Given the description of an element on the screen output the (x, y) to click on. 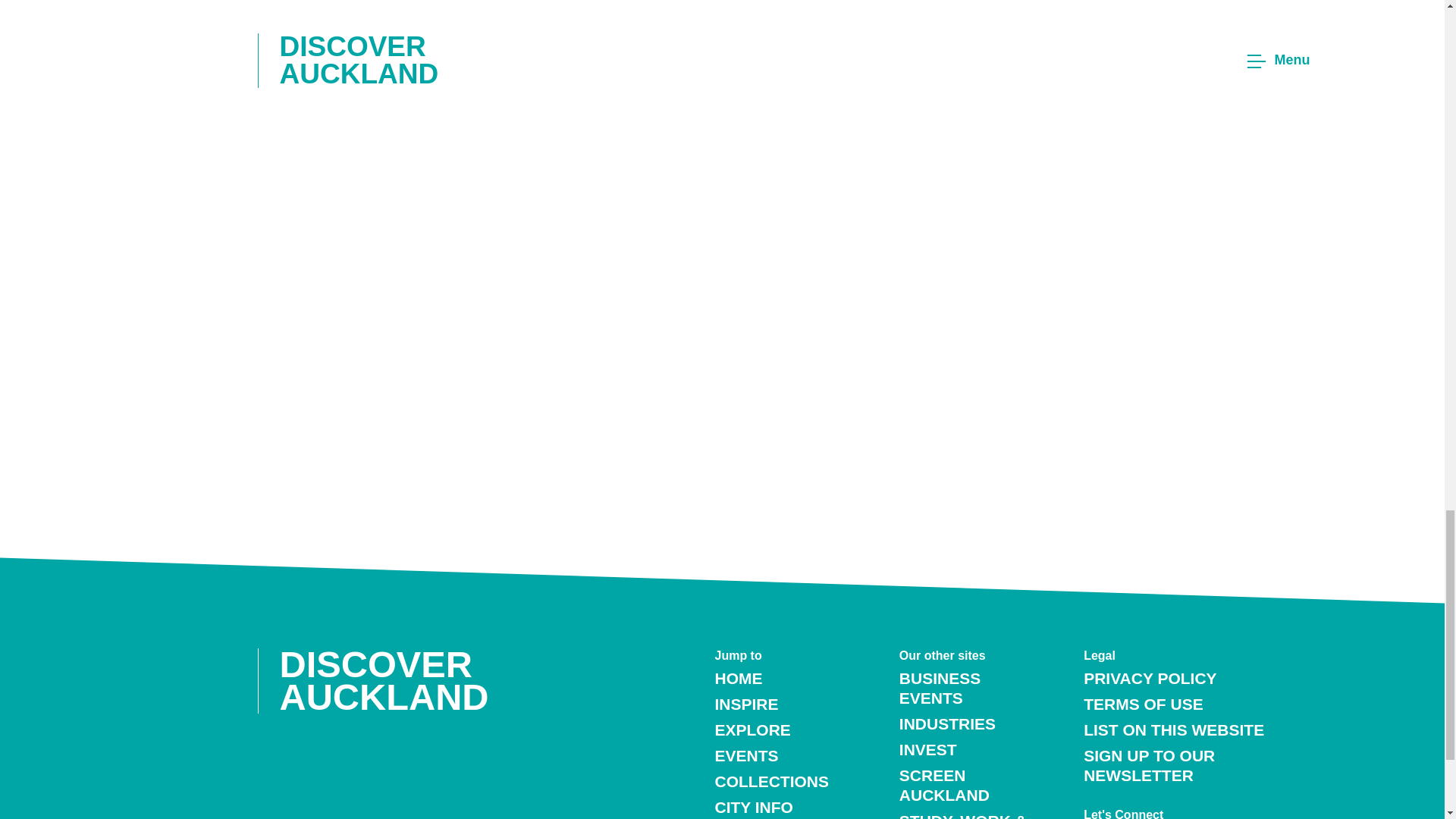
SCREEN AUCKLAND (944, 784)
INDUSTRIES (947, 723)
SIGN UP TO OUR NEWSLETTER (1148, 764)
INVEST (927, 749)
LIST ON THIS WEBSITE (1173, 729)
EXPLORE (752, 729)
DISCOVER AUCKLAND (394, 680)
PRIVACY POLICY (1149, 678)
TERMS OF USE (1143, 703)
BUSINESS EVENTS (939, 687)
INSPIRE (745, 703)
HOME (737, 678)
COLLECTIONS (771, 781)
EVENTS (745, 755)
CITY INFO (753, 806)
